Given the description of an element on the screen output the (x, y) to click on. 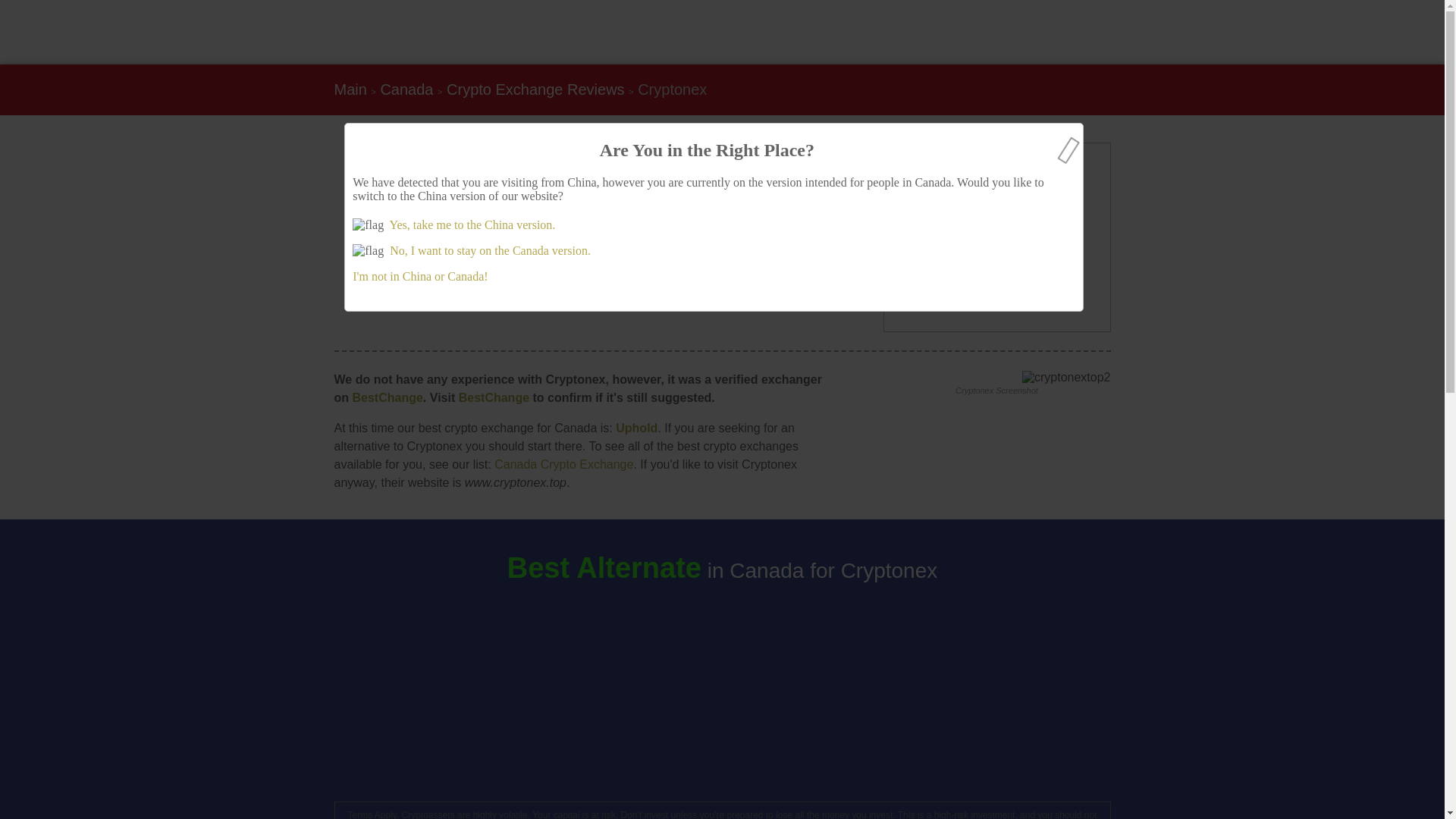
Canada (406, 89)
Learn how our ratings are determined (567, 296)
BestChange (387, 397)
Uphold (636, 427)
Crypto Exchange Reviews (535, 89)
Main (349, 89)
cryptonex screen shot (1066, 377)
Canada Crypto Exchange (564, 463)
BestChange (493, 397)
Uphold Canada (636, 427)
